Given the description of an element on the screen output the (x, y) to click on. 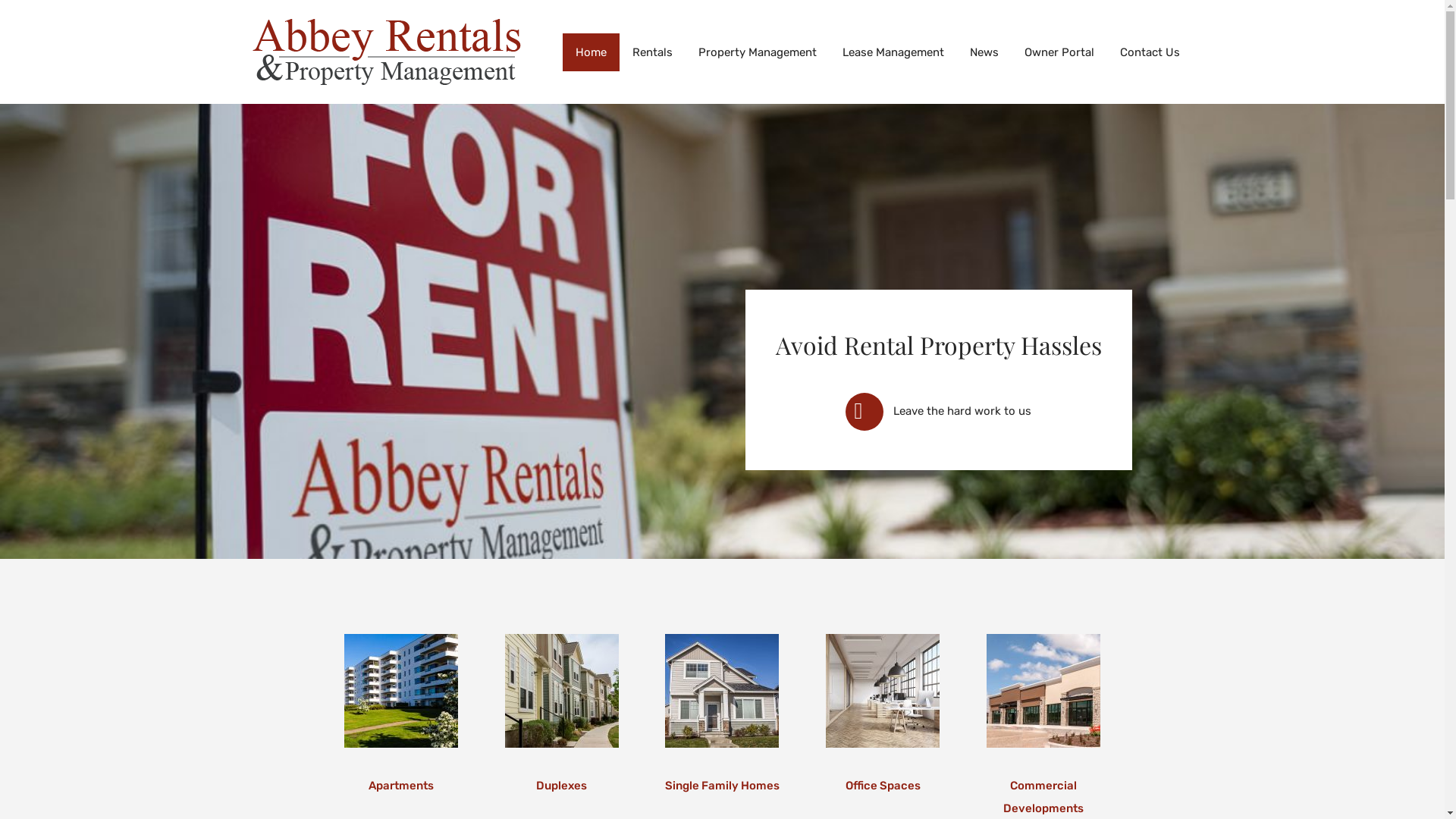
Abbey Rentals & Property Management Element type: hover (385, 77)
towns Element type: hover (561, 690)
News Element type: text (984, 52)
singlefamily Element type: hover (721, 690)
Home Element type: text (590, 52)
Lease Management Element type: text (893, 52)
Property Management Element type: text (757, 52)
Owner Portal Element type: text (1059, 52)
commercial Element type: hover (1043, 690)
offices Element type: hover (882, 690)
Rentals Element type: text (651, 52)
apartments Element type: hover (401, 690)
Contact Us Element type: text (1149, 52)
